Given the description of an element on the screen output the (x, y) to click on. 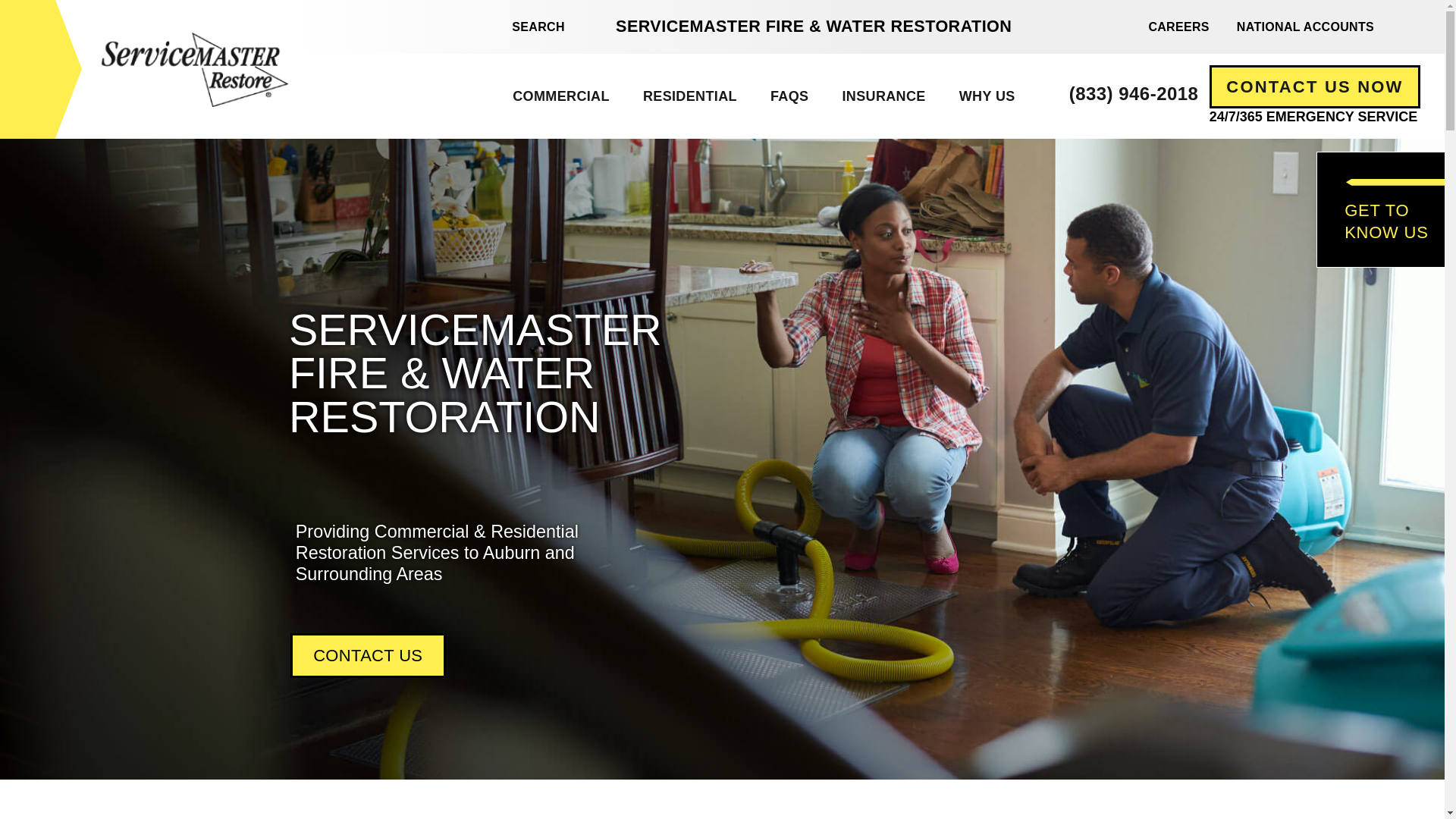
SEARCH (529, 26)
WHY US (986, 96)
NATIONAL ACCOUNTS (1305, 26)
INSURANCE (883, 96)
CAREERS (1178, 26)
FAQS (788, 96)
RESIDENTIAL (689, 96)
COMMERCIAL (561, 96)
